Given the description of an element on the screen output the (x, y) to click on. 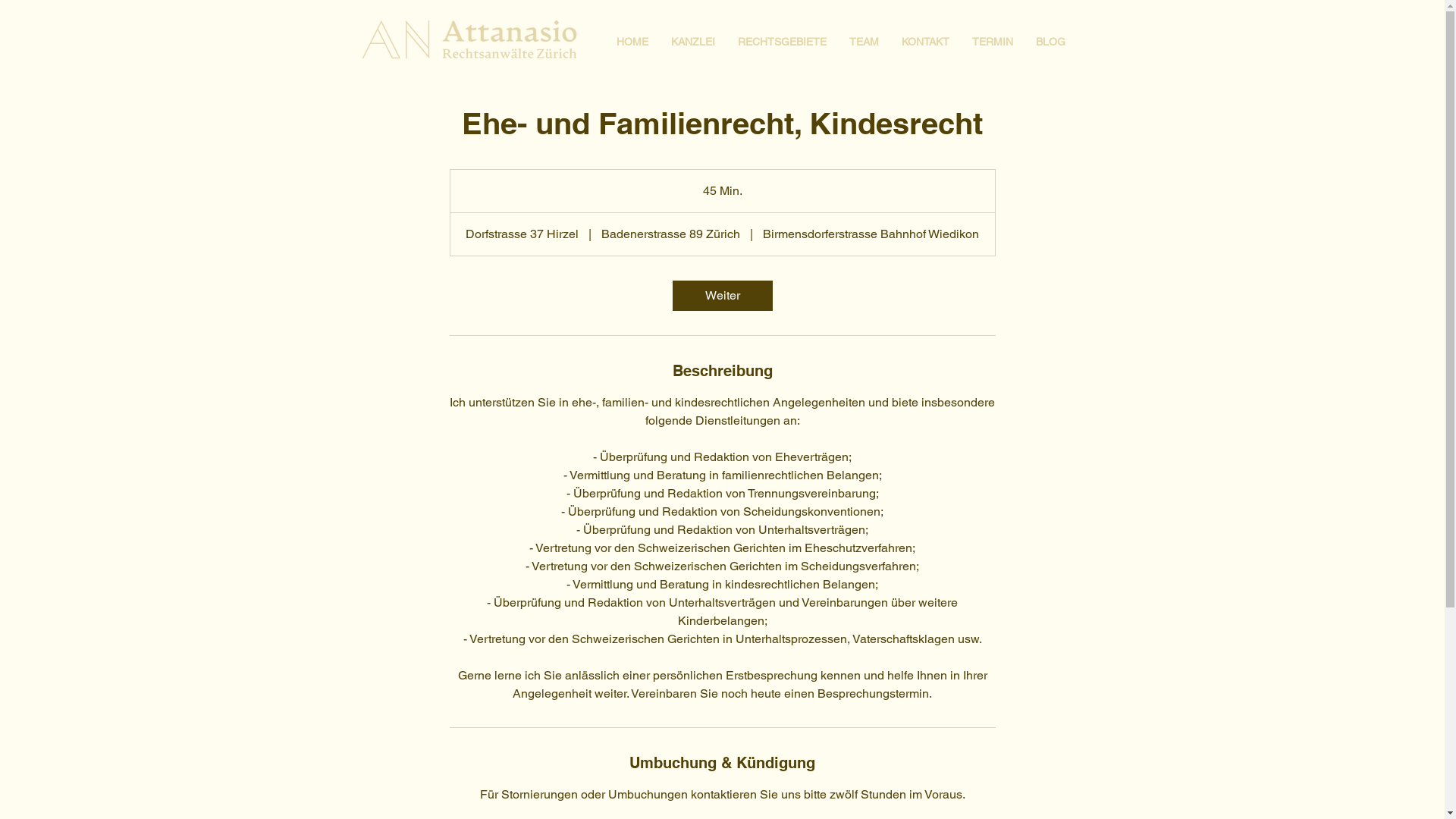
KONTAKT Element type: text (925, 40)
RECHTSGEBIETE Element type: text (781, 40)
KANZLEI Element type: text (692, 40)
Weiter Element type: text (721, 295)
HOME Element type: text (632, 40)
BLOG Element type: text (1049, 40)
TEAM Element type: text (863, 40)
TERMIN Element type: text (991, 40)
